Given the description of an element on the screen output the (x, y) to click on. 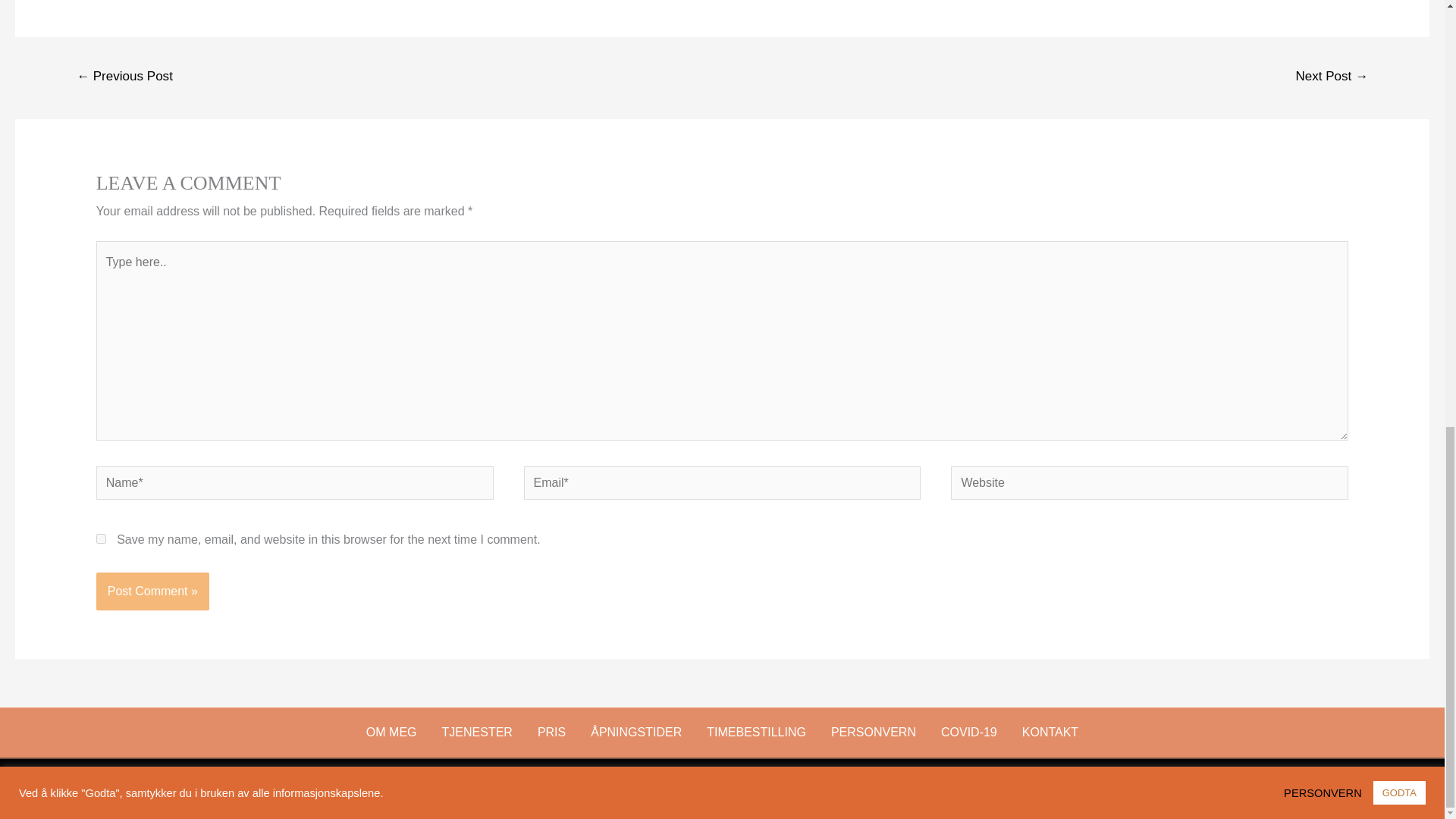
COVID-19 (969, 732)
OM MEG (391, 732)
TIMEBESTILLING (755, 732)
PERSONVERN (873, 732)
yes (101, 538)
PRIS (550, 732)
KONTAKT (1049, 732)
TJENESTER (477, 732)
